Given the description of an element on the screen output the (x, y) to click on. 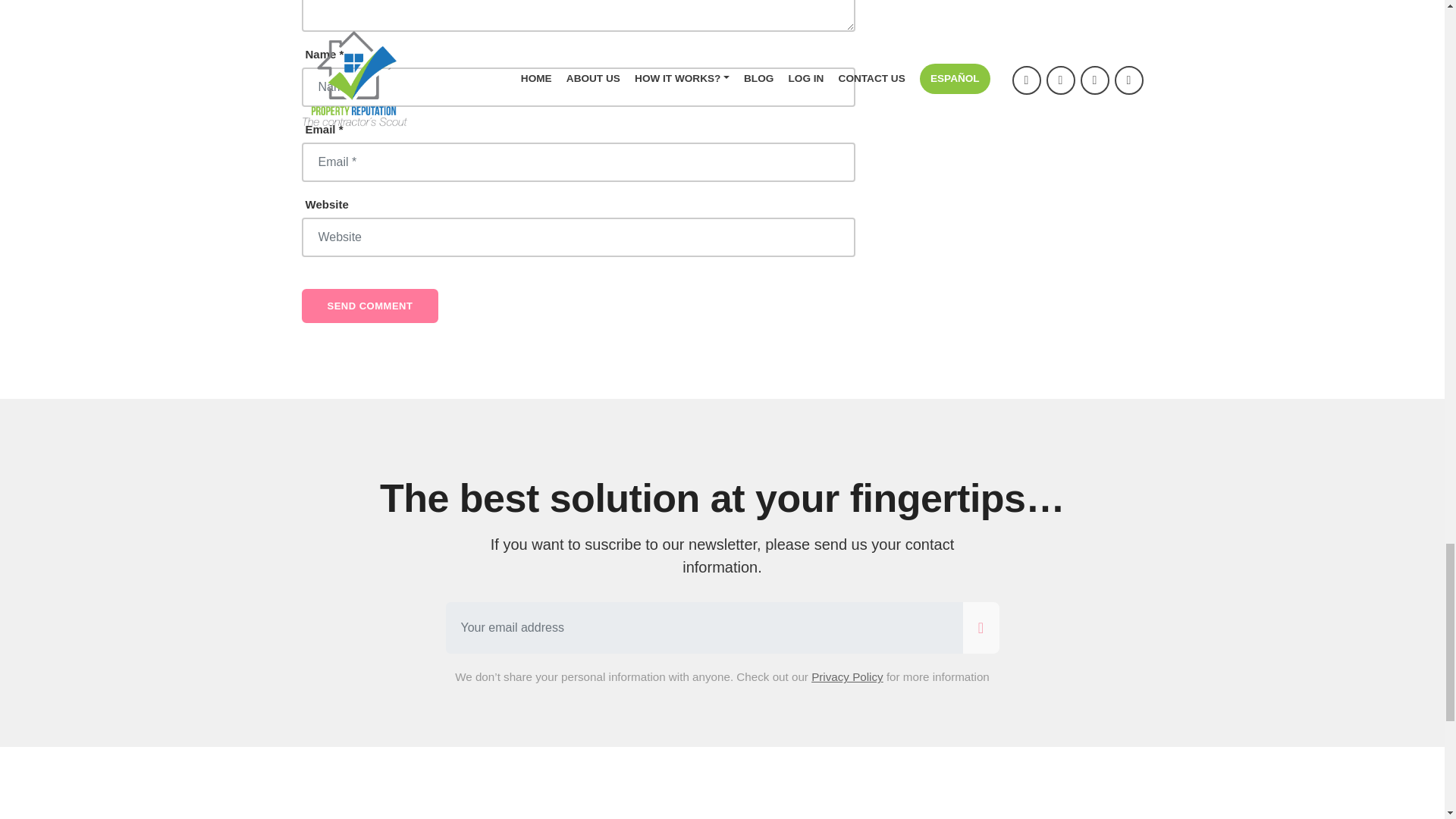
Send comment (370, 305)
Send comment (370, 305)
